Given the description of an element on the screen output the (x, y) to click on. 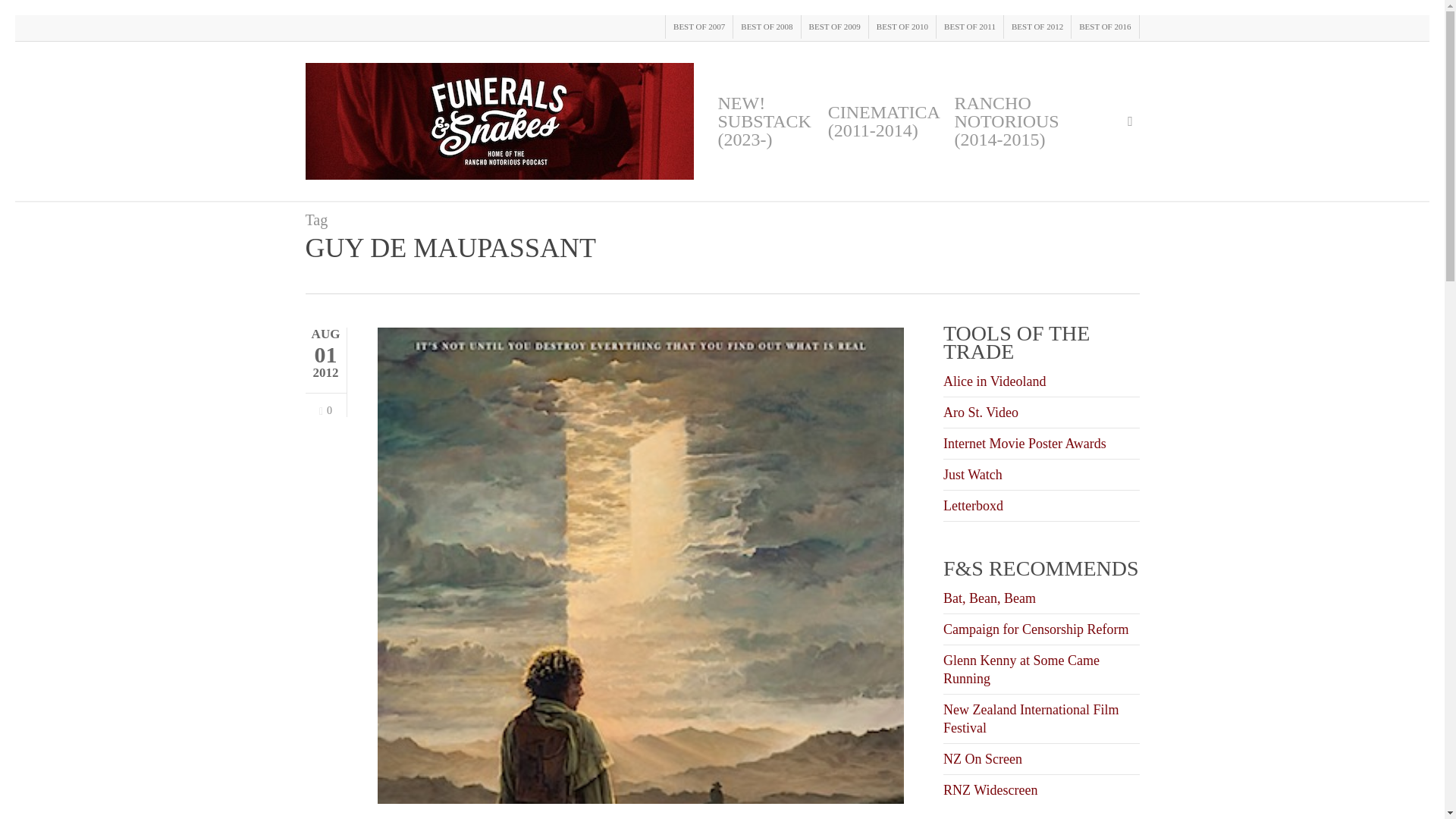
BEST OF 2012 (1036, 26)
NZ On Screen (982, 758)
Bat, Bean, Beam (989, 598)
Internet Movie Poster Awards (1024, 443)
Letterboxd (973, 505)
search (1129, 120)
Robyn from the Internet (989, 816)
BEST OF 2009 (833, 26)
BEST OF 2010 (901, 26)
